Given the description of an element on the screen output the (x, y) to click on. 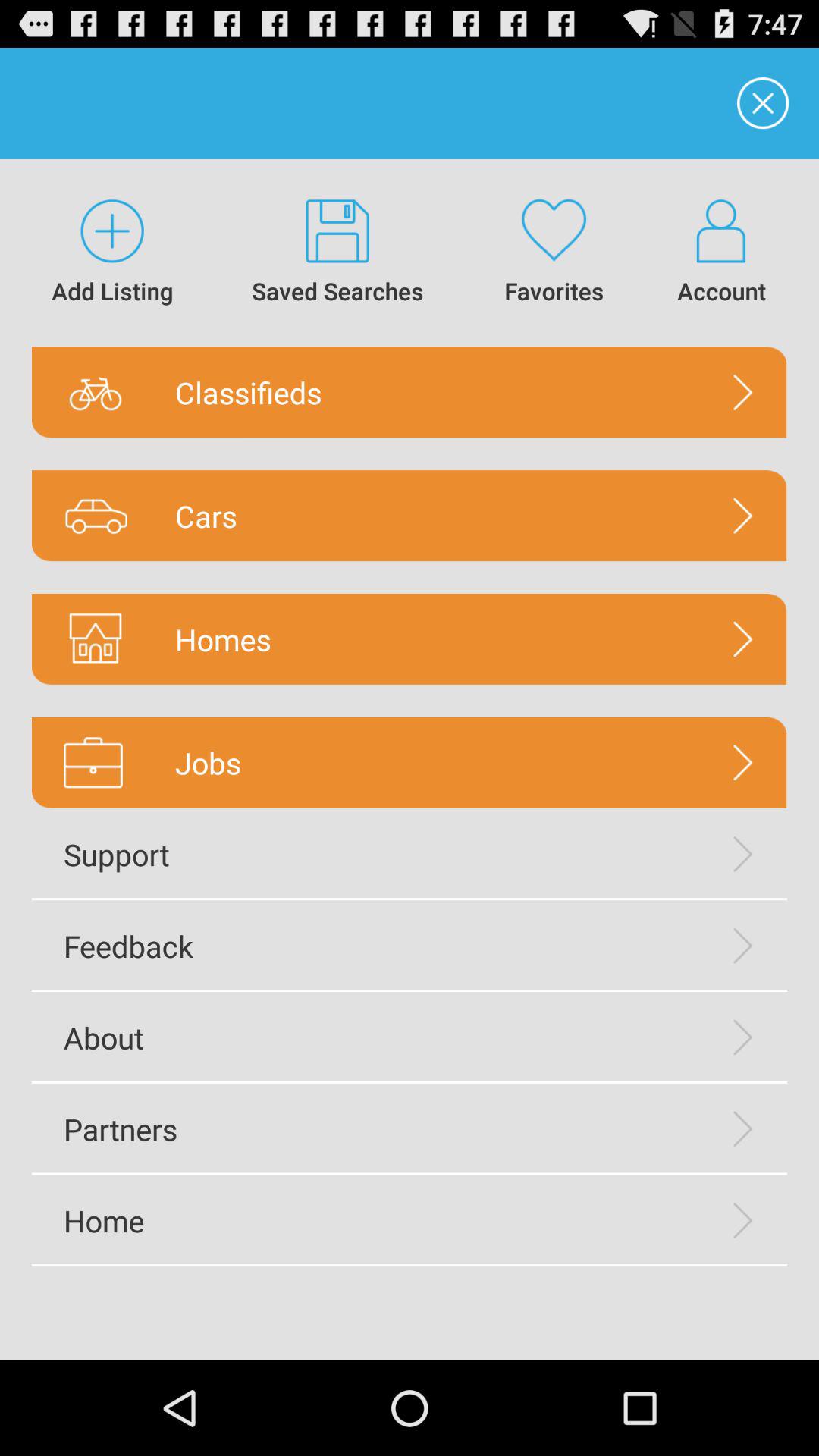
tap the item to the right of add listing item (337, 253)
